Given the description of an element on the screen output the (x, y) to click on. 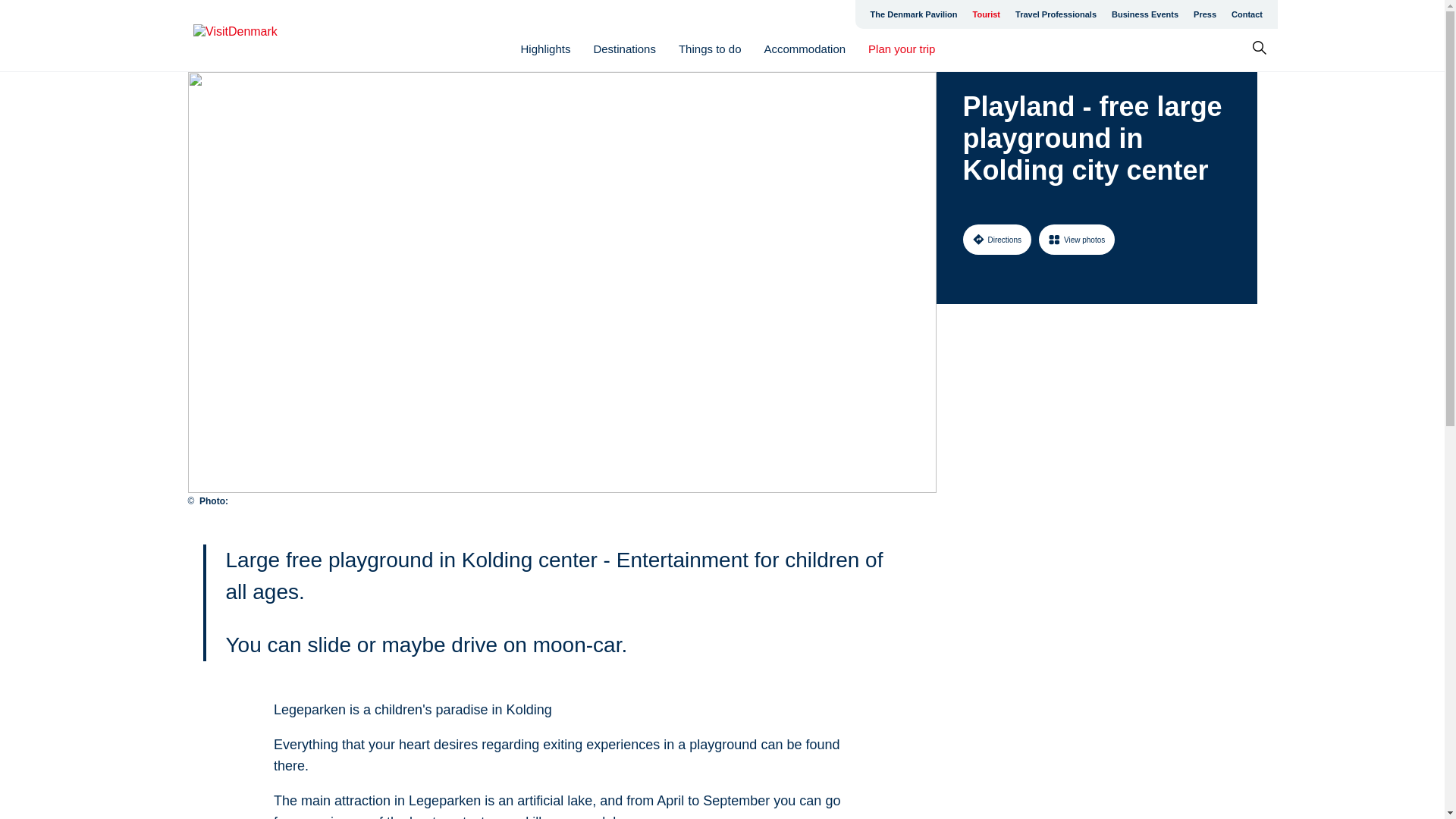
Tourist (986, 14)
Directions (996, 239)
Highlights (545, 48)
Plan your trip (900, 48)
The Denmark Pavilion (914, 14)
View photos (1077, 239)
Accommodation (804, 48)
Travel Professionals (1055, 14)
Contact (1246, 14)
Business Events (1144, 14)
Things to do (709, 48)
Destinations (624, 48)
Go to homepage (253, 35)
Press (1205, 14)
